Given the description of an element on the screen output the (x, y) to click on. 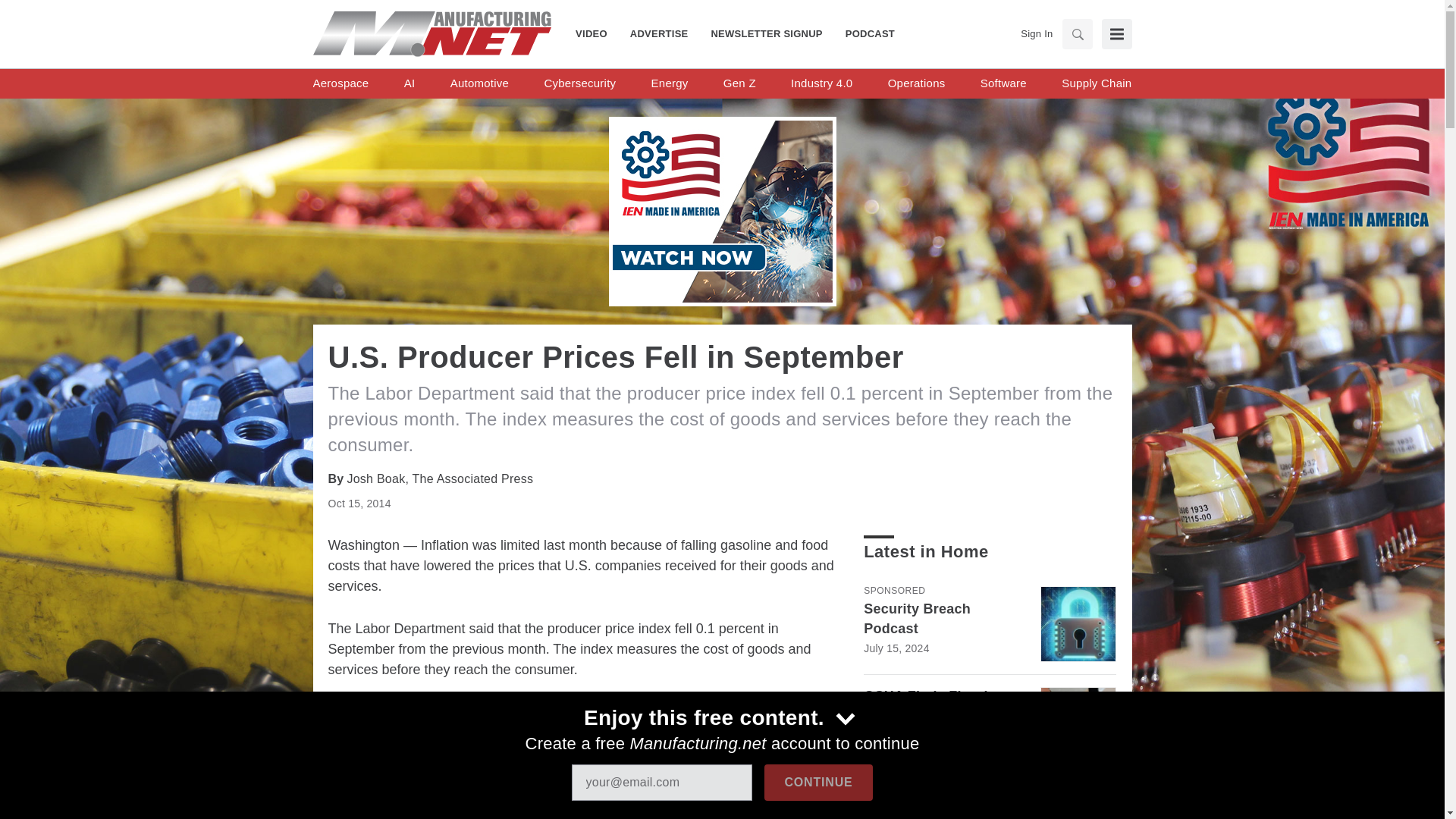
Aerospace (340, 83)
Automotive (479, 83)
Energy (669, 83)
3rd party ad content (587, 778)
Gen Z (739, 83)
Software (1002, 83)
Industry 4.0 (820, 83)
Operations (916, 83)
Cybersecurity (579, 83)
NEWSLETTER SIGNUP (765, 33)
ADVERTISE (659, 33)
VIDEO (596, 33)
Sponsored (893, 590)
Sign In (1036, 33)
